Given the description of an element on the screen output the (x, y) to click on. 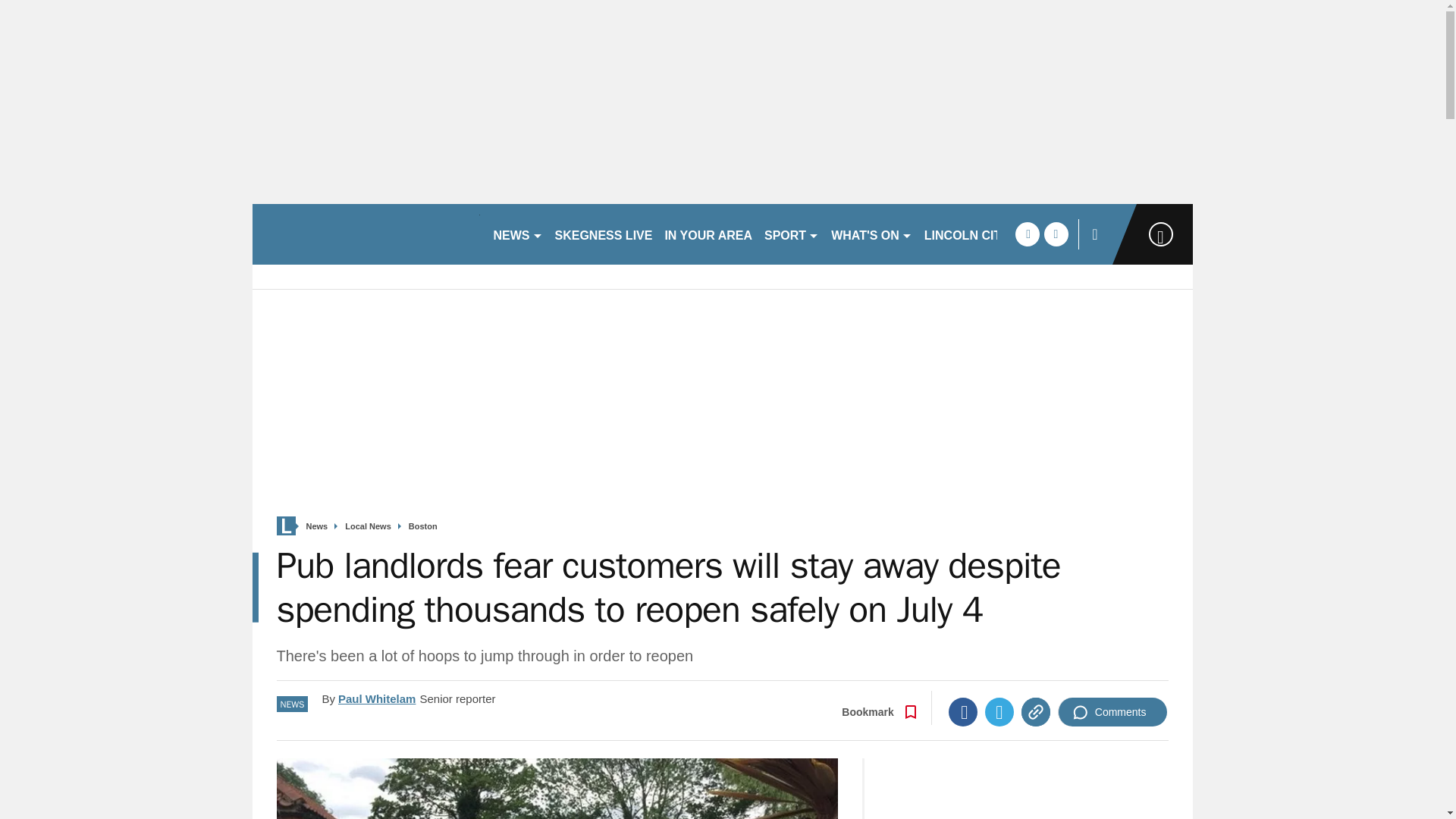
Facebook (962, 711)
Comments (1112, 711)
IN YOUR AREA (708, 233)
NEWS (517, 233)
twitter (1055, 233)
LINCOLN CITY FC (975, 233)
Twitter (999, 711)
WHAT'S ON (871, 233)
SKEGNESS LIVE (603, 233)
lincolnshirelive (365, 233)
